Given the description of an element on the screen output the (x, y) to click on. 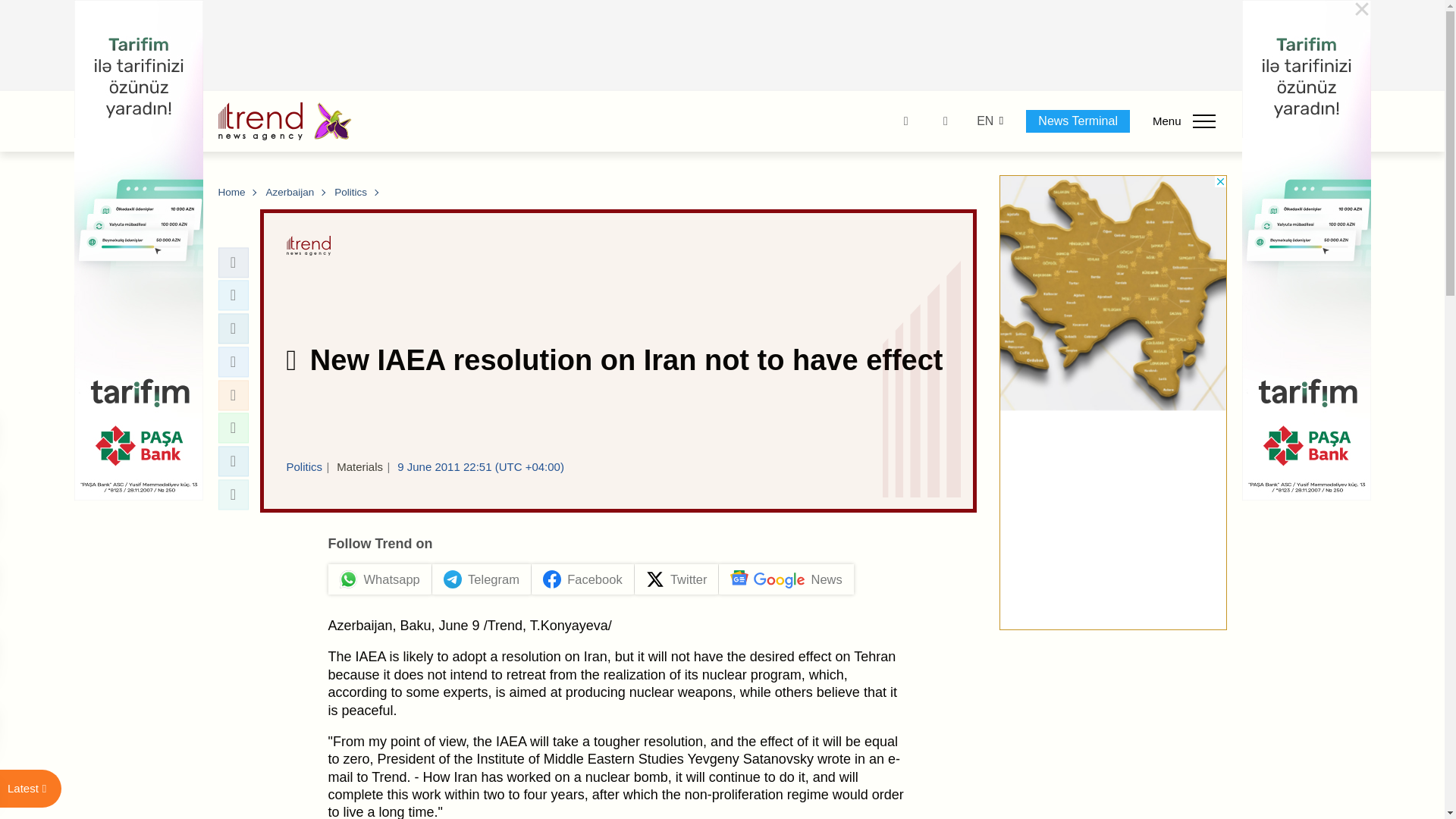
3rd party ad content (722, 45)
EN (984, 121)
English (984, 121)
News Terminal (1077, 120)
